Given the description of an element on the screen output the (x, y) to click on. 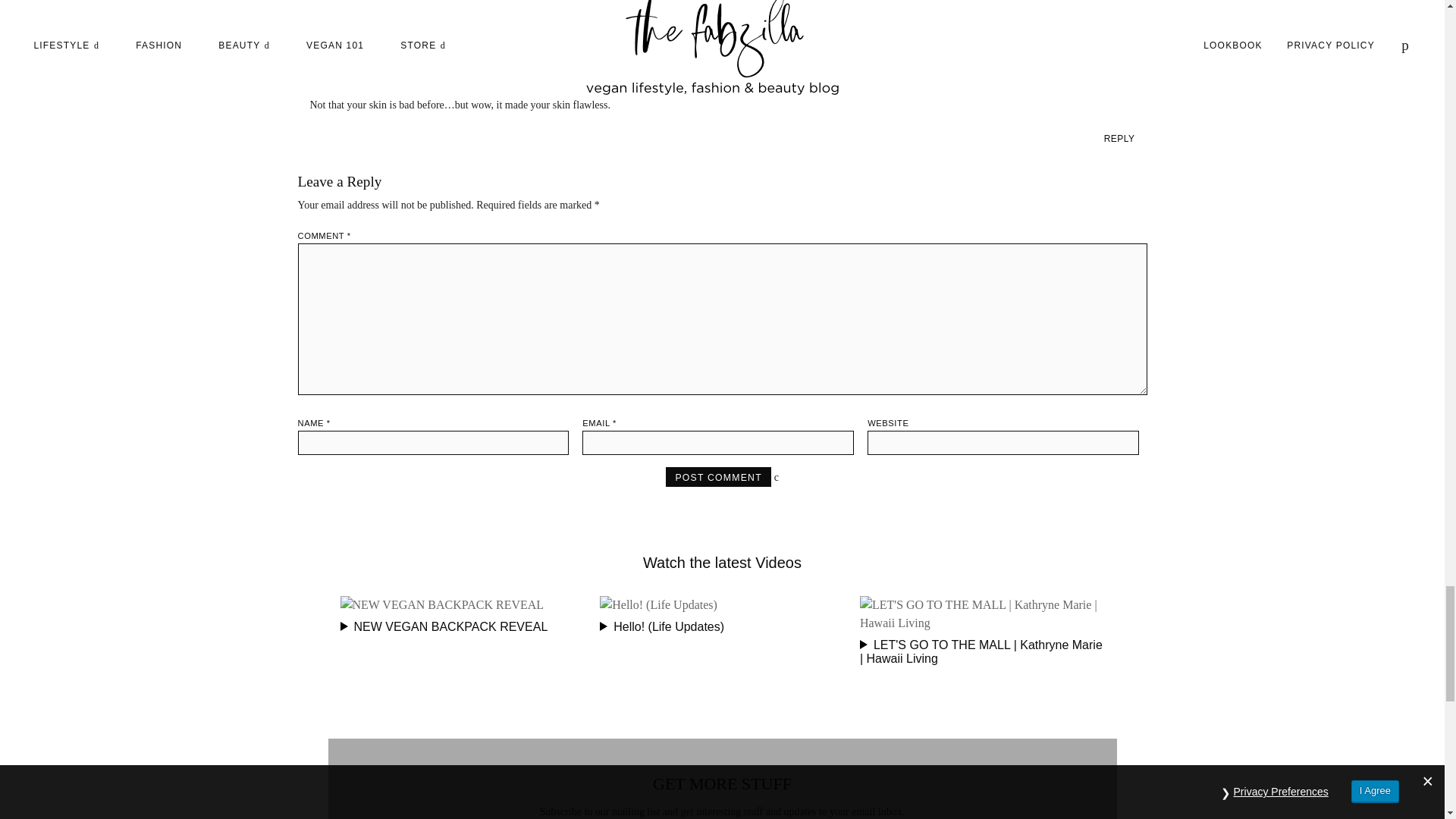
Post Comment (718, 476)
NEW VEGAN BACKPACK REVEAL (462, 615)
